Given the description of an element on the screen output the (x, y) to click on. 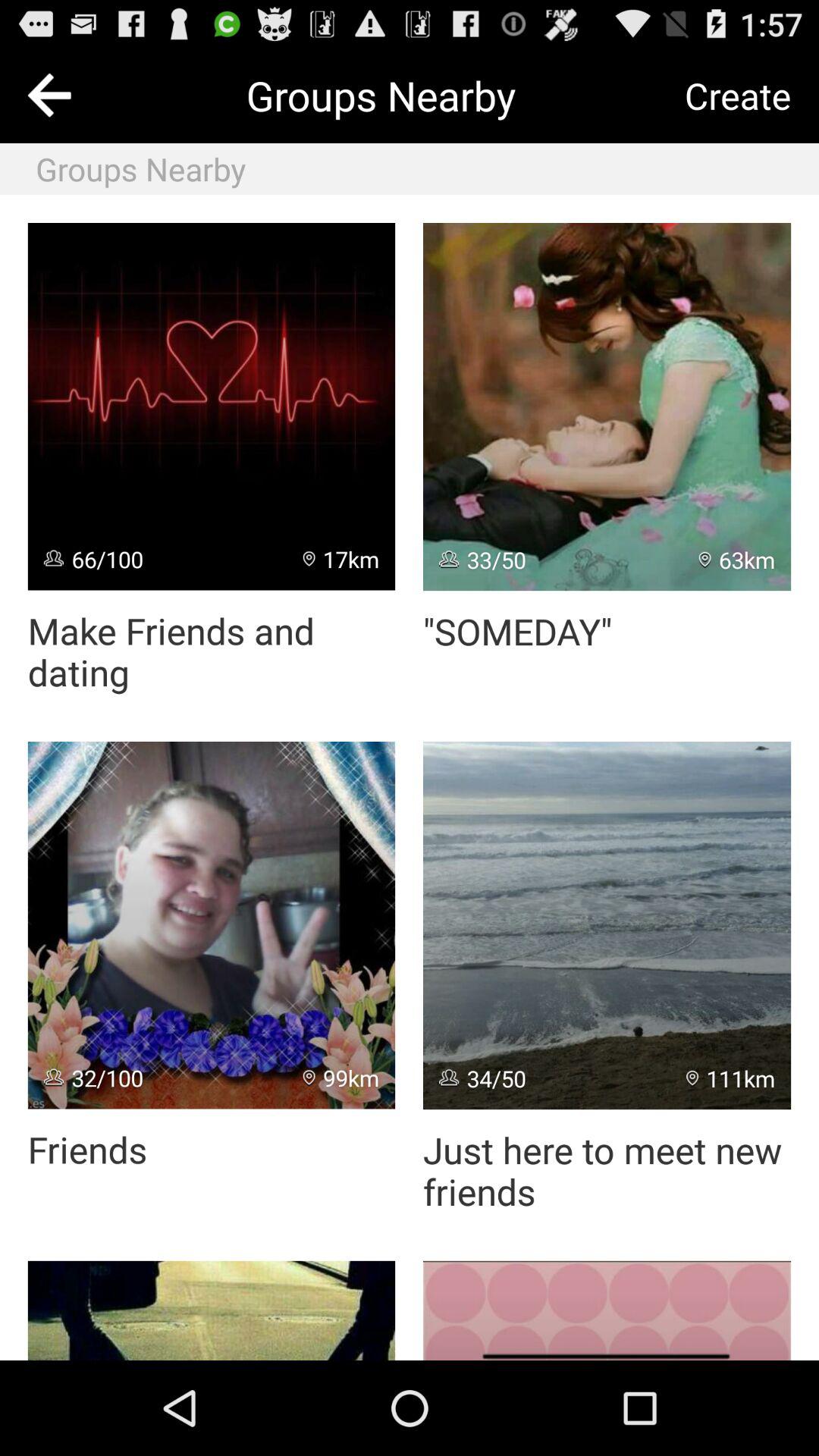
tap item to the right of 32/100 app (341, 1077)
